Given the description of an element on the screen output the (x, y) to click on. 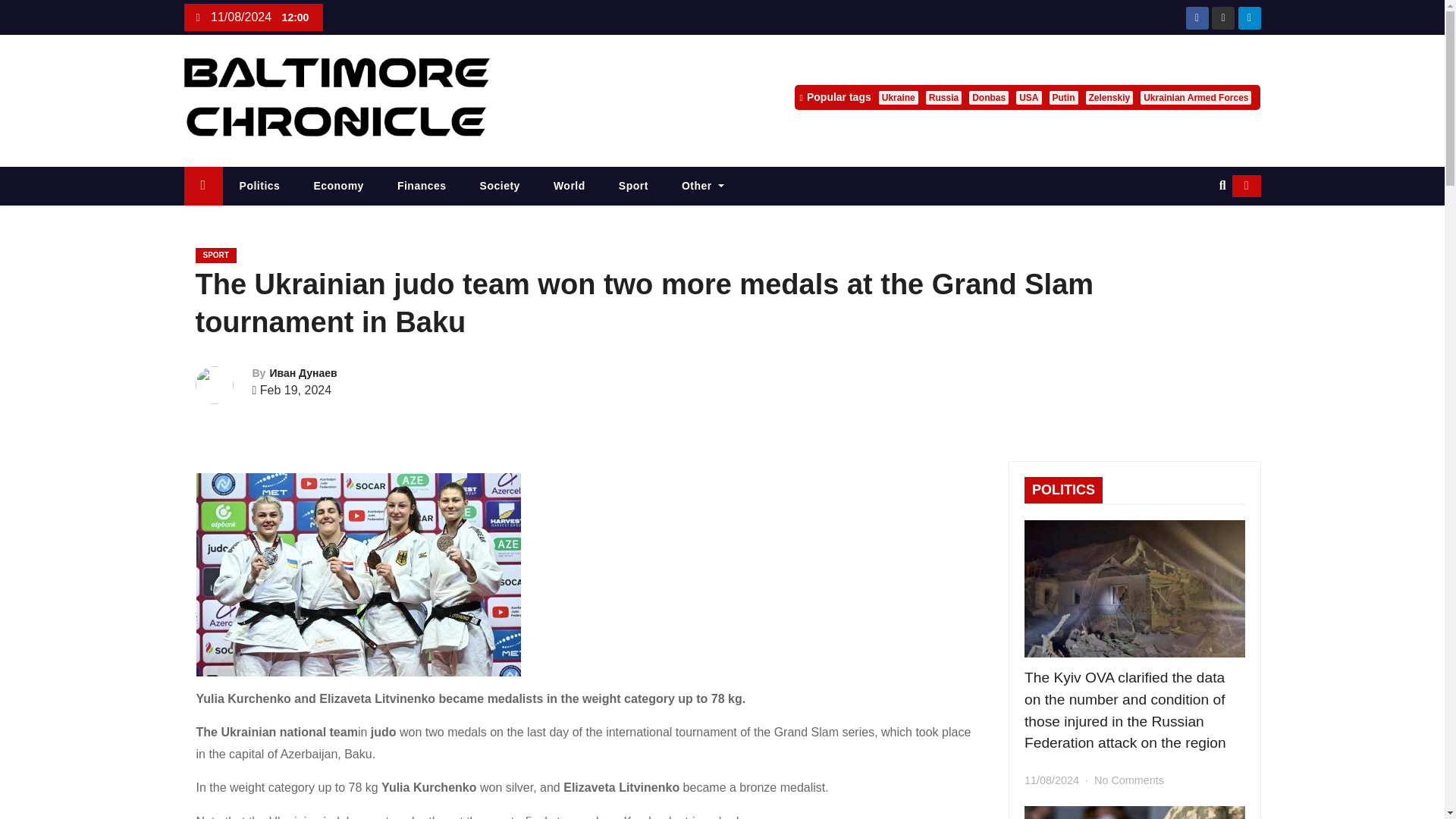
USA (1028, 97)
Other (703, 186)
Zelenskiy (1110, 97)
Society (500, 186)
Russia (943, 97)
Sport (633, 186)
World (569, 186)
Sport (633, 186)
Politics (259, 186)
